Given the description of an element on the screen output the (x, y) to click on. 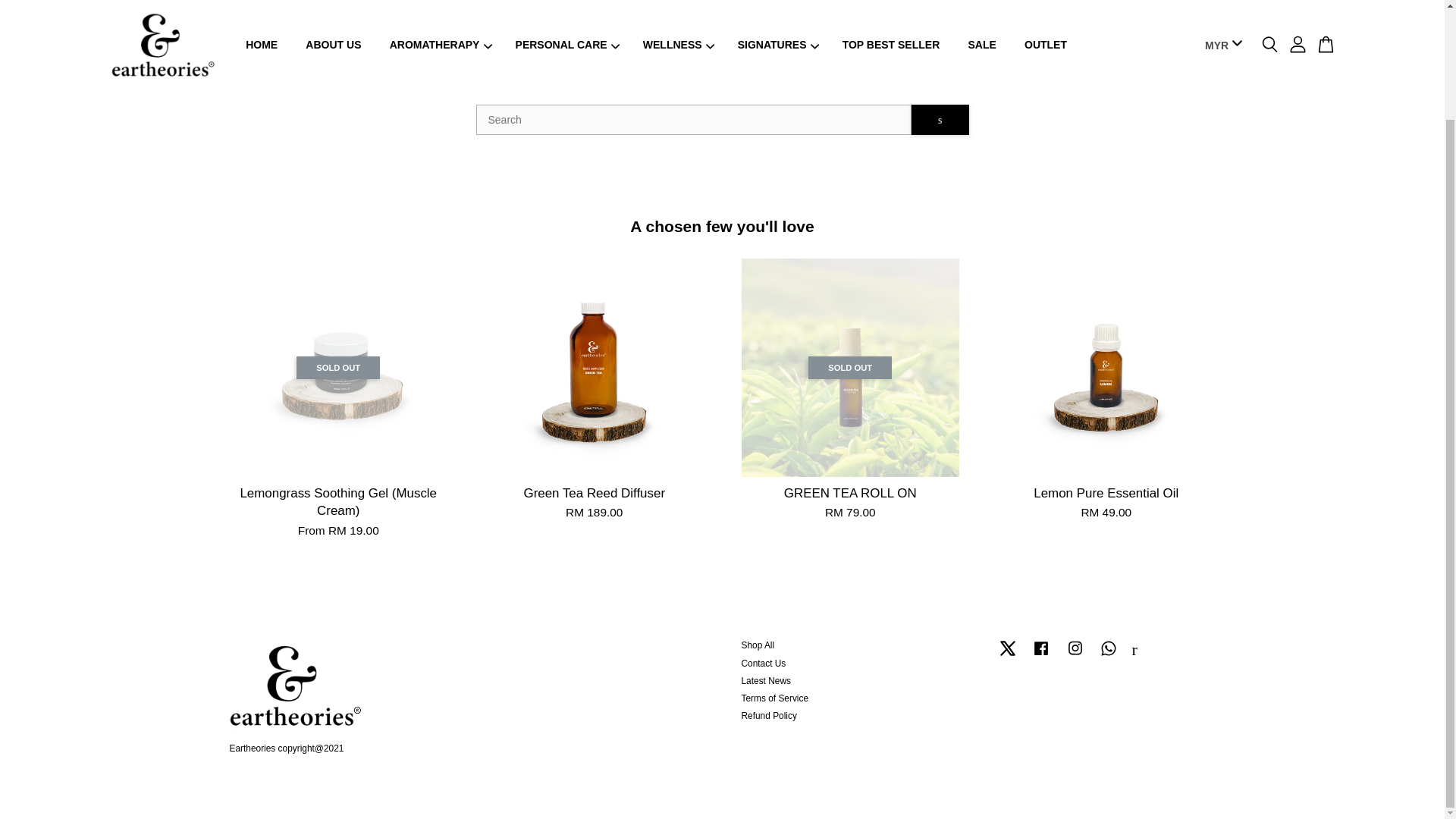
Eartheories on Whatsapp (1108, 655)
Eartheories on Instagram (1075, 655)
Eartheories on Facebook (1040, 655)
icon-instagram (1075, 648)
Eartheories on Twitter (1007, 655)
icon-facebook (1040, 648)
icon-whatsapp (1108, 648)
